Given the description of an element on the screen output the (x, y) to click on. 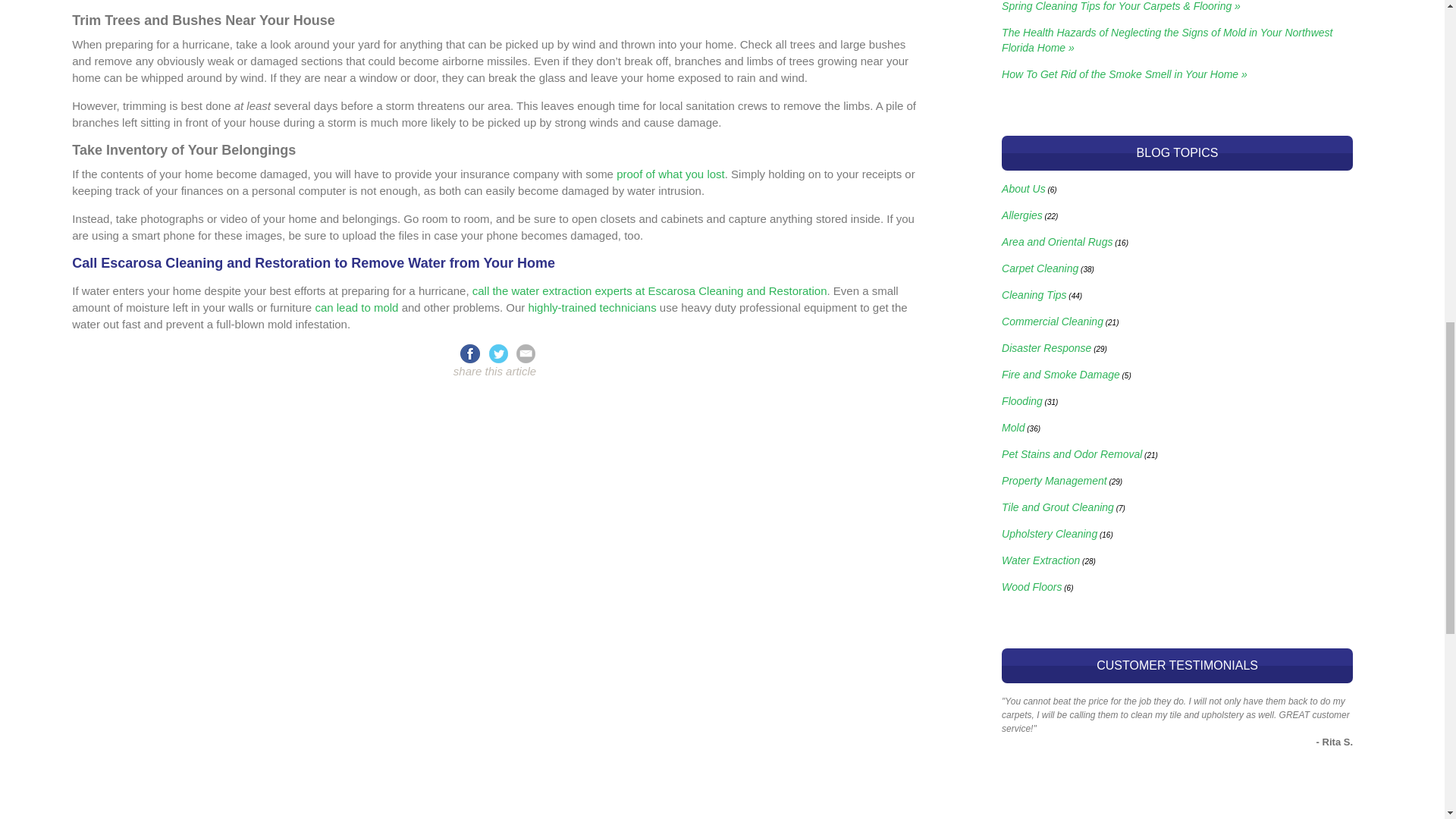
Share by Email (525, 351)
Share on Twitter (501, 351)
Share on Facebook (469, 351)
